Given the description of an element on the screen output the (x, y) to click on. 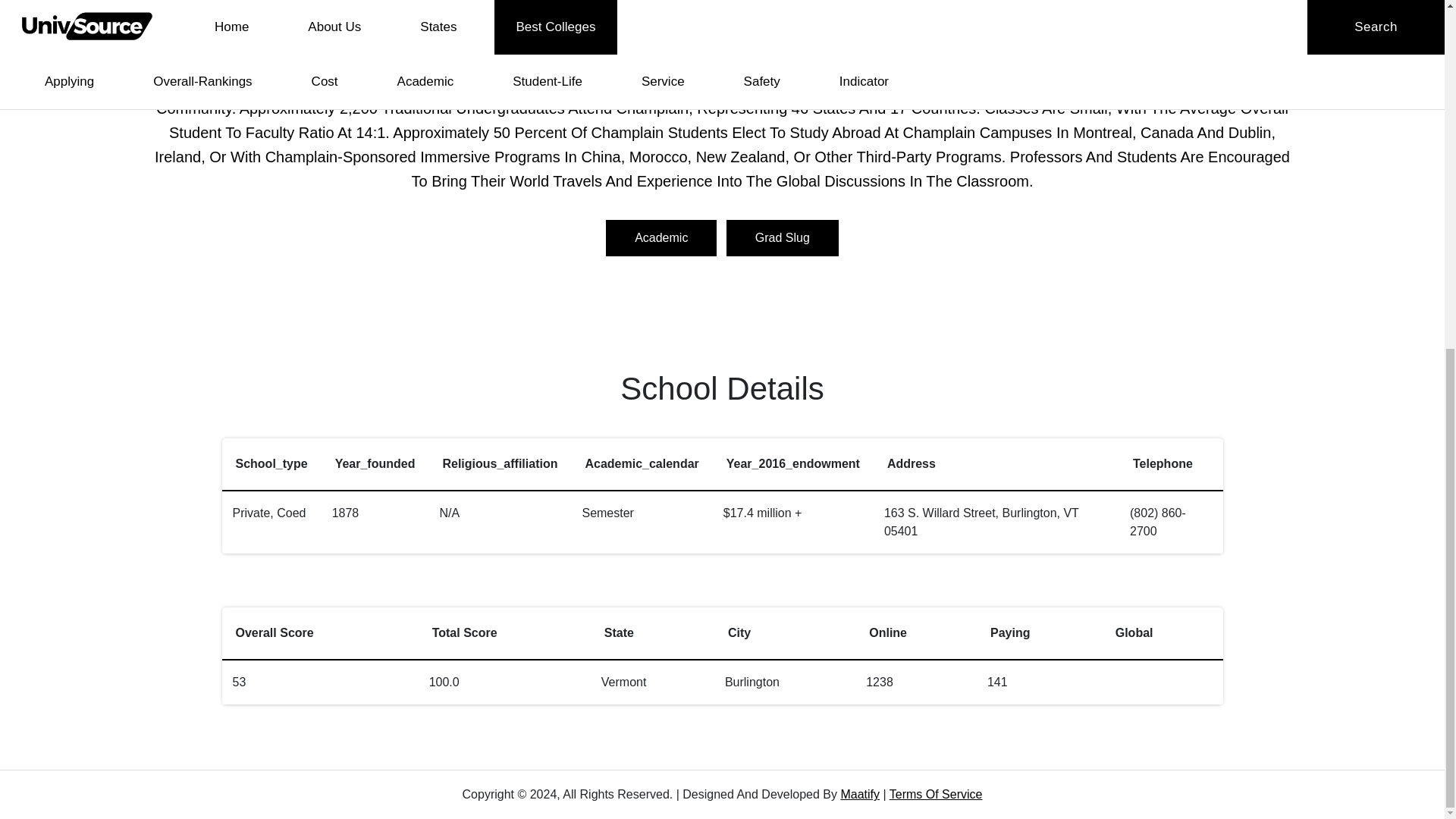
Academic (660, 238)
Terms Of Service (935, 793)
Grad Slug (782, 238)
Maatify (859, 793)
